Given the description of an element on the screen output the (x, y) to click on. 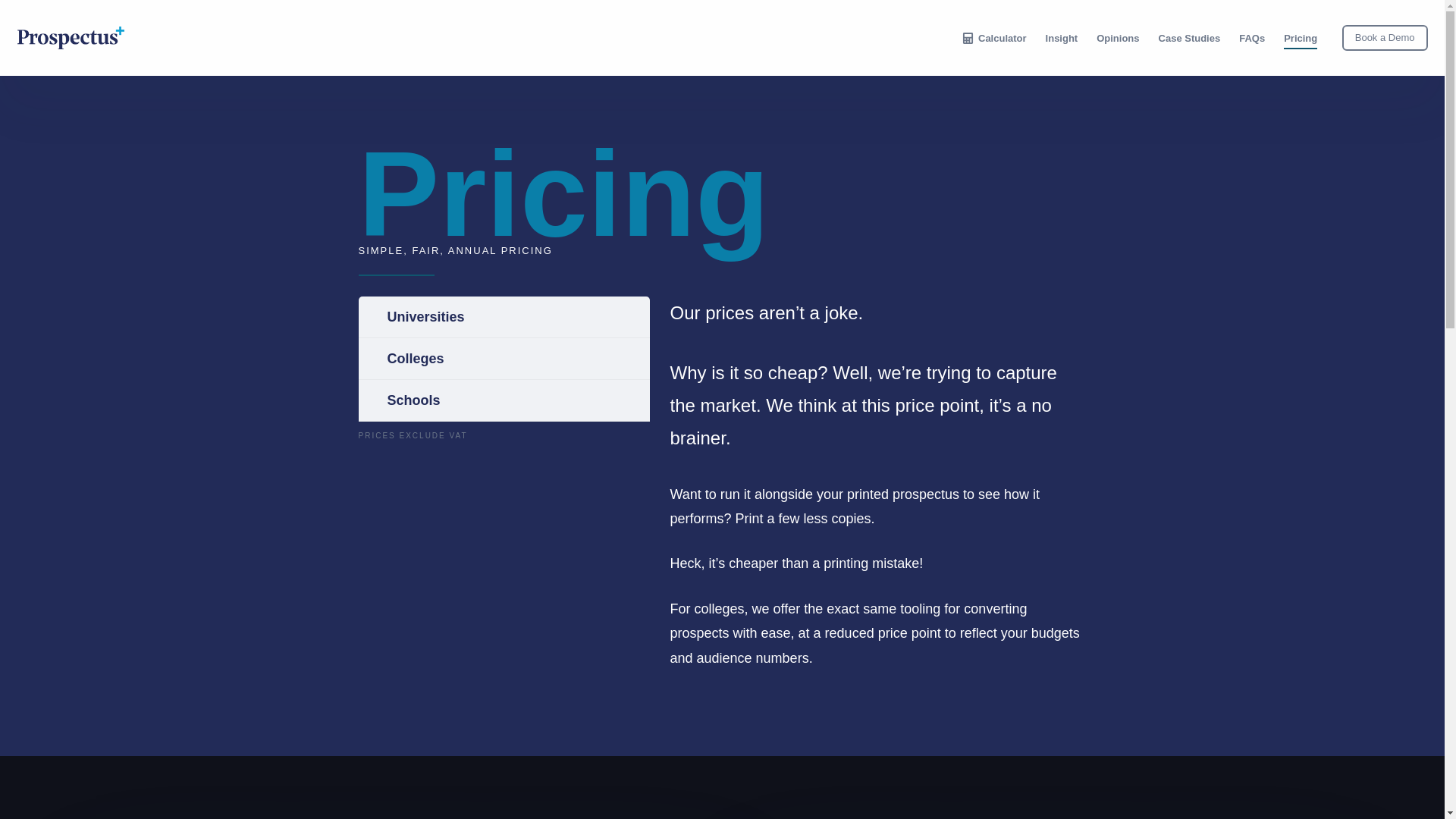
ROADMAP (584, 710)
Book a Demo (1385, 37)
PRIVACY POLICY (47, 796)
ALL POLICIES AND STATEMENTS (274, 796)
SMILE (143, 709)
Skip to content (15, 7)
Calculator (993, 37)
Insight (1061, 37)
Case Studies (1189, 37)
Opinions (1117, 37)
WISHLIST (584, 720)
Pricing (1300, 37)
FAQs (1252, 37)
ACCESSIBILITY STATEMENT (146, 796)
